Given the description of an element on the screen output the (x, y) to click on. 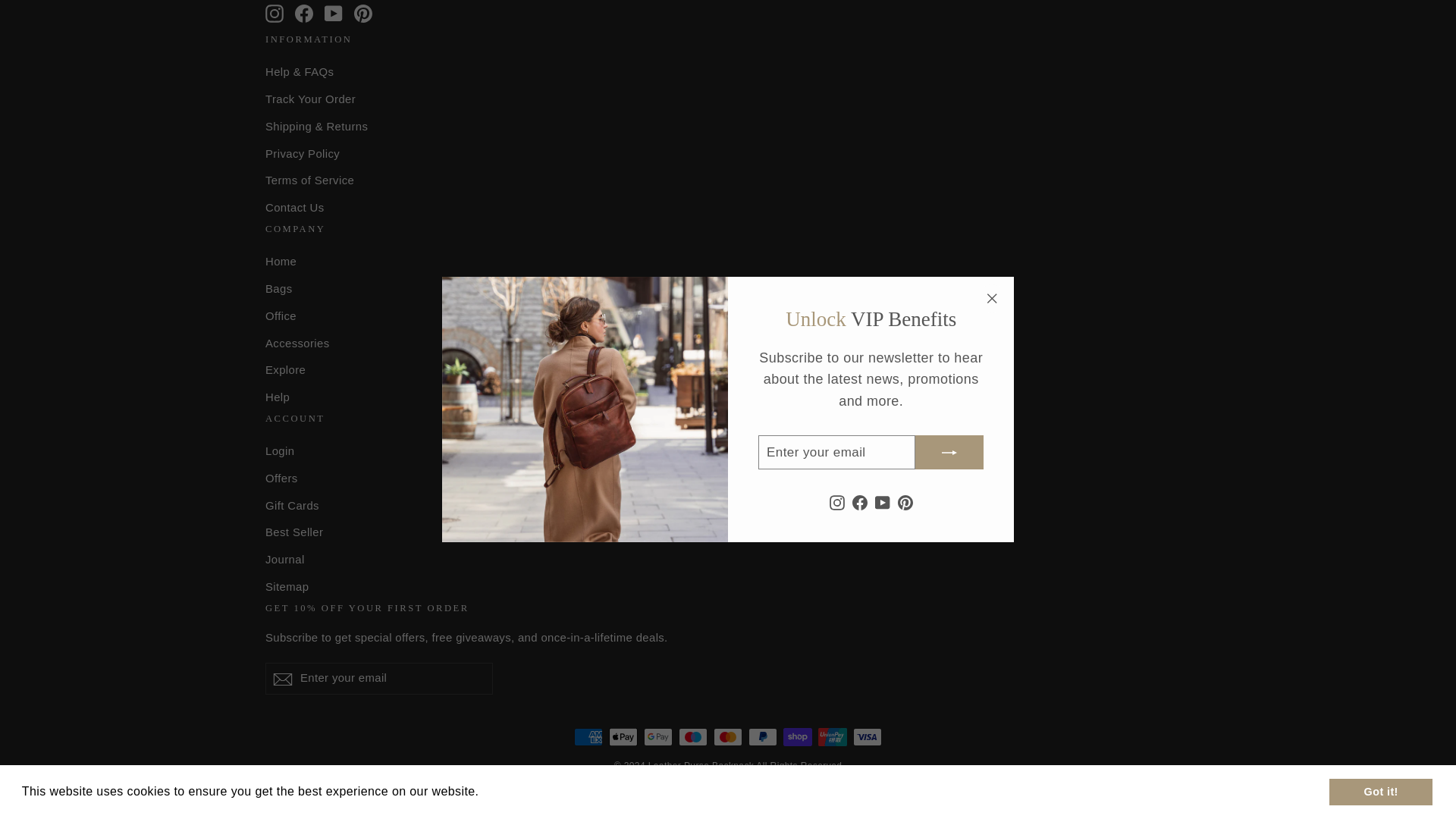
instagram (273, 13)
Leather Purse Backpack on Instagram (273, 12)
